Given the description of an element on the screen output the (x, y) to click on. 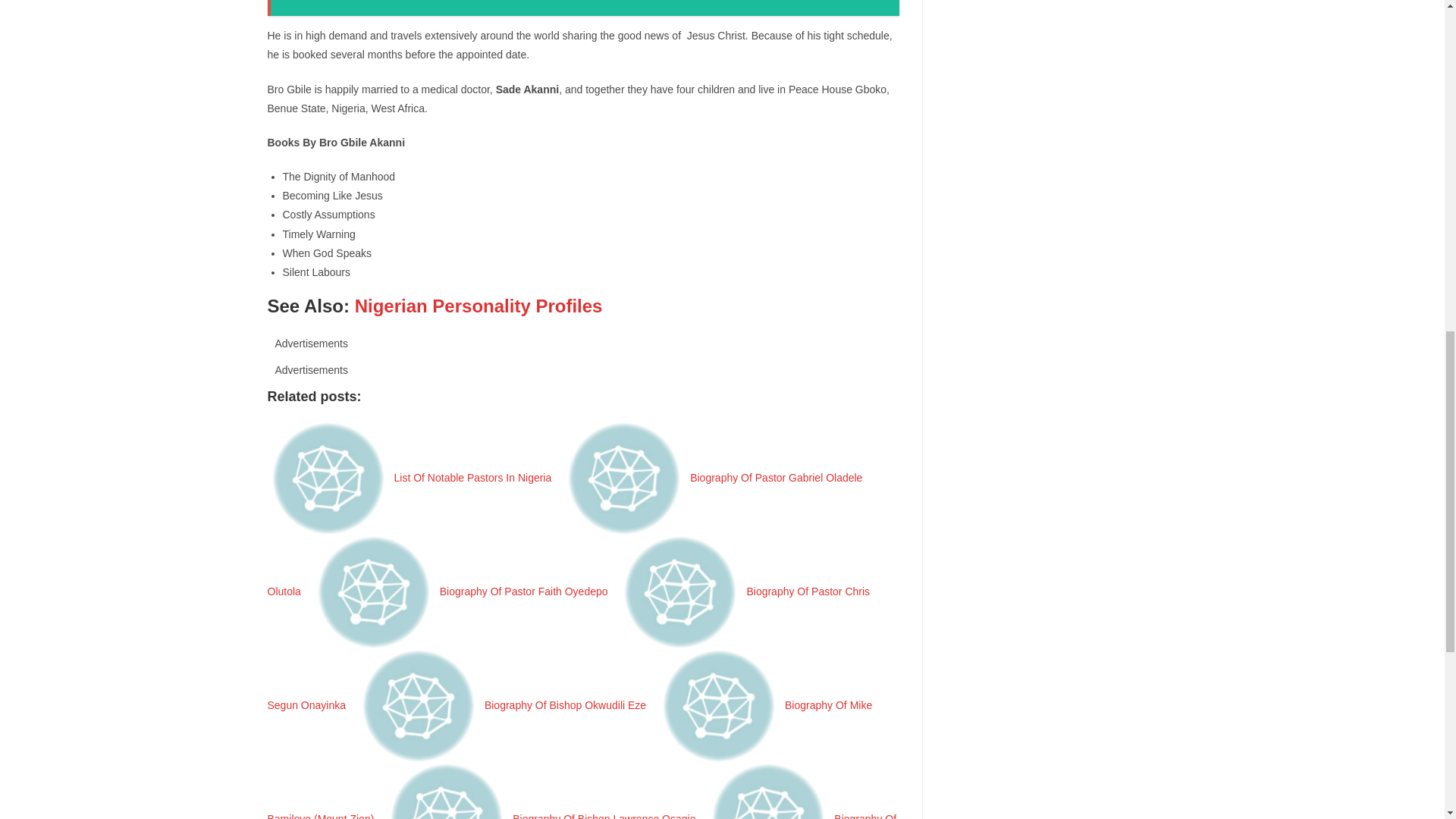
Biography Of Pastor Chris Segun Onayinka (567, 648)
Biography Of Bishop Lawrence Osagie (542, 816)
Biography Of Bishop Okwudili Eze (504, 705)
Biography Of Pastor Faith Oyedepo (462, 591)
Nigerian Personality Profiles (478, 305)
Biography Of Pastor Faith Oyedepo (462, 591)
List Of Notable Pastors In Nigeria (411, 477)
Biography Of Pastor Gabriel Oladele Olutola (563, 534)
Biography Of Pastor Chris Segun Onayinka (567, 648)
Biography Of Bishop Lawrence Osagie (542, 816)
Biography Of Pastor Gabriel Oladele Olutola (563, 534)
Biography Of Bishop Okwudili Eze (504, 705)
List Of Notable Pastors In Nigeria (411, 477)
